Given the description of an element on the screen output the (x, y) to click on. 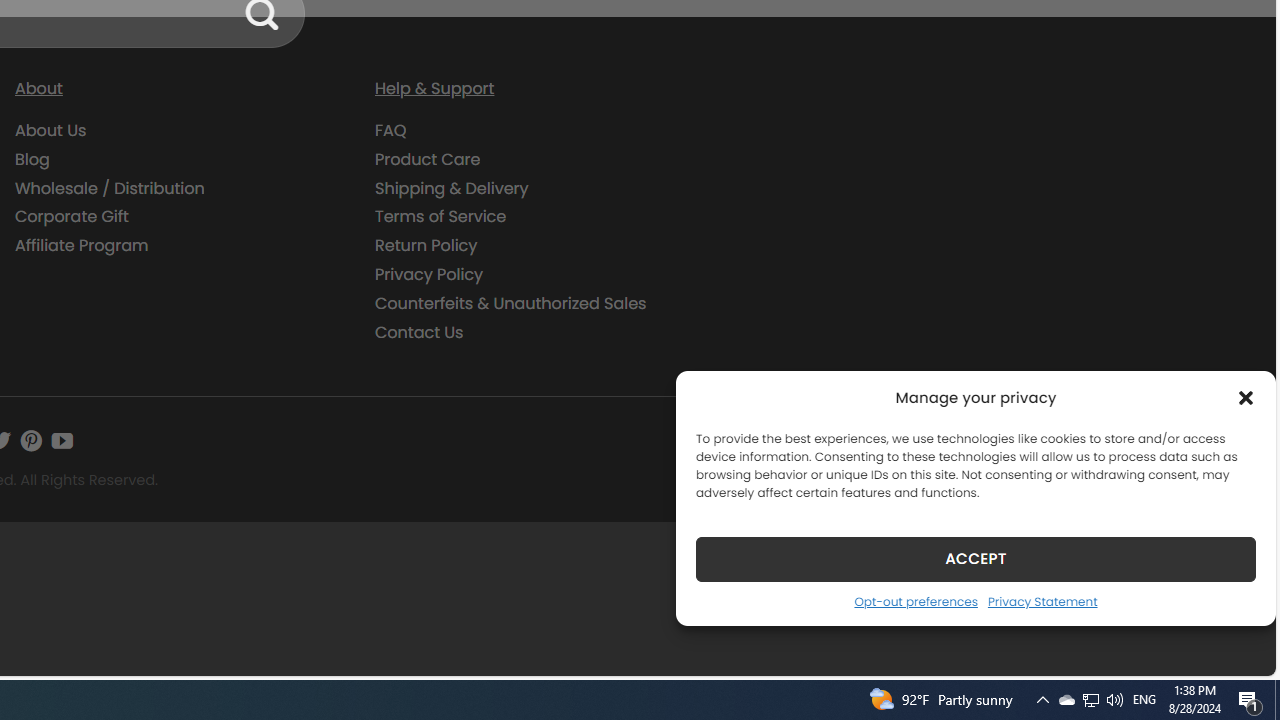
Contact Us (540, 332)
Follow on Pinterest (31, 440)
Return Policy (540, 246)
Terms of Service (440, 216)
Product Care (428, 158)
Corporate Gift (72, 216)
Follow on YouTube (61, 440)
Return Policy (426, 245)
Corporate Gift (180, 216)
Counterfeits & Unauthorized Sales (510, 302)
About Us (180, 131)
Go to top (1234, 647)
Privacy Statement (1042, 601)
ACCEPT (975, 558)
Opt-out preferences (915, 601)
